Given the description of an element on the screen output the (x, y) to click on. 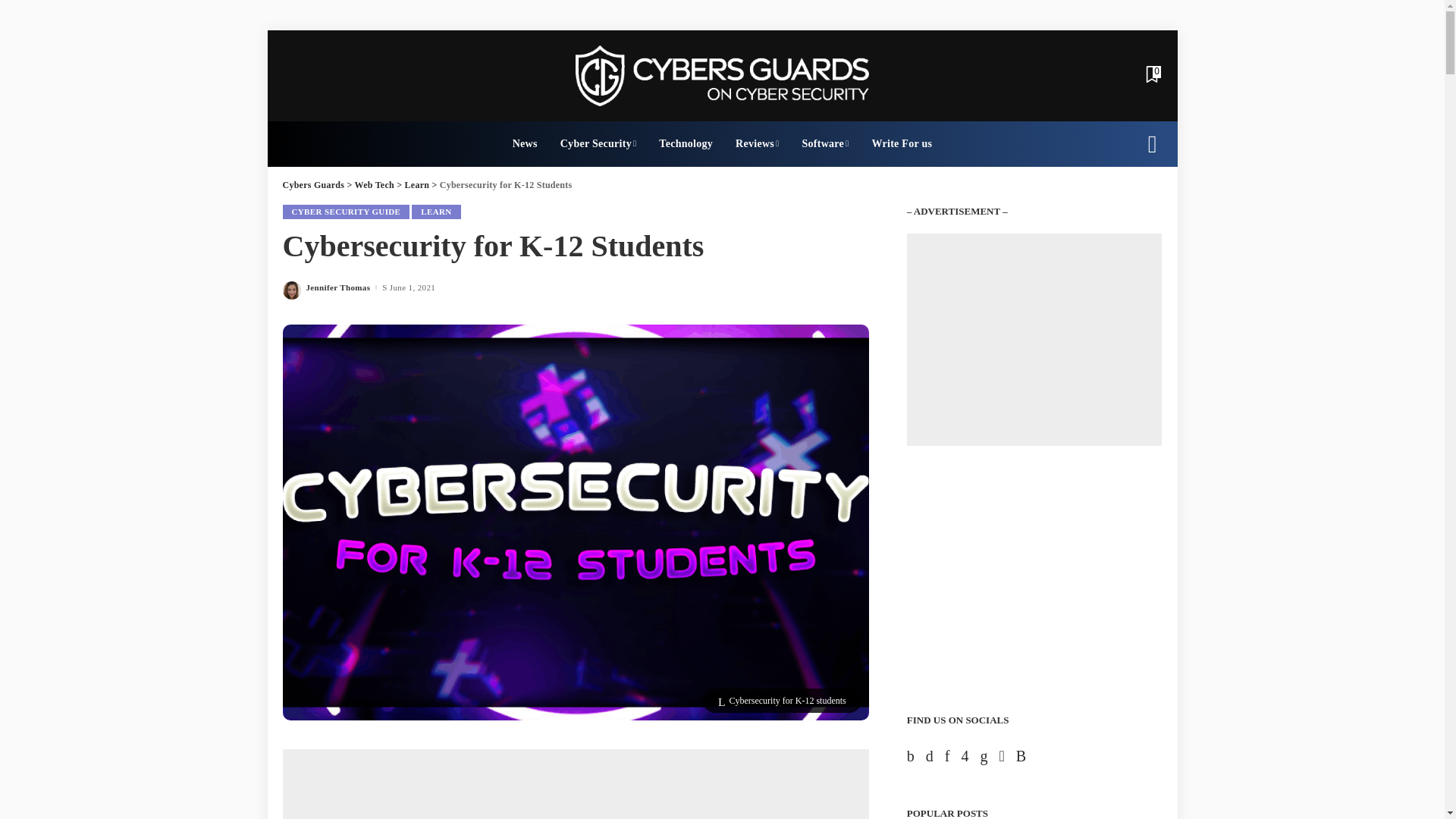
Cybers Guards (722, 75)
